Given the description of an element on the screen output the (x, y) to click on. 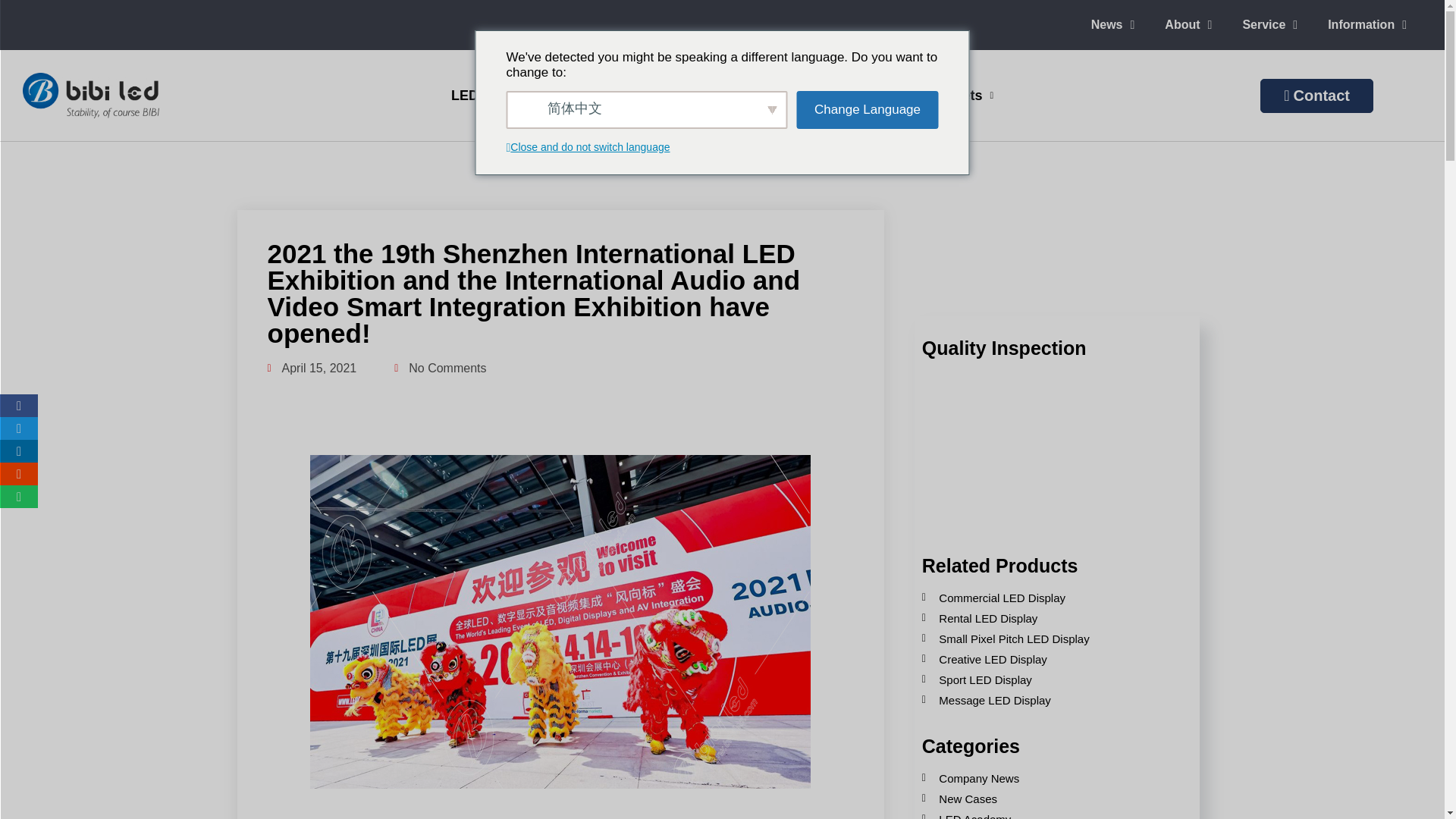
News (1112, 24)
Service (1270, 24)
Information (1367, 24)
About (1188, 24)
